Given the description of an element on the screen output the (x, y) to click on. 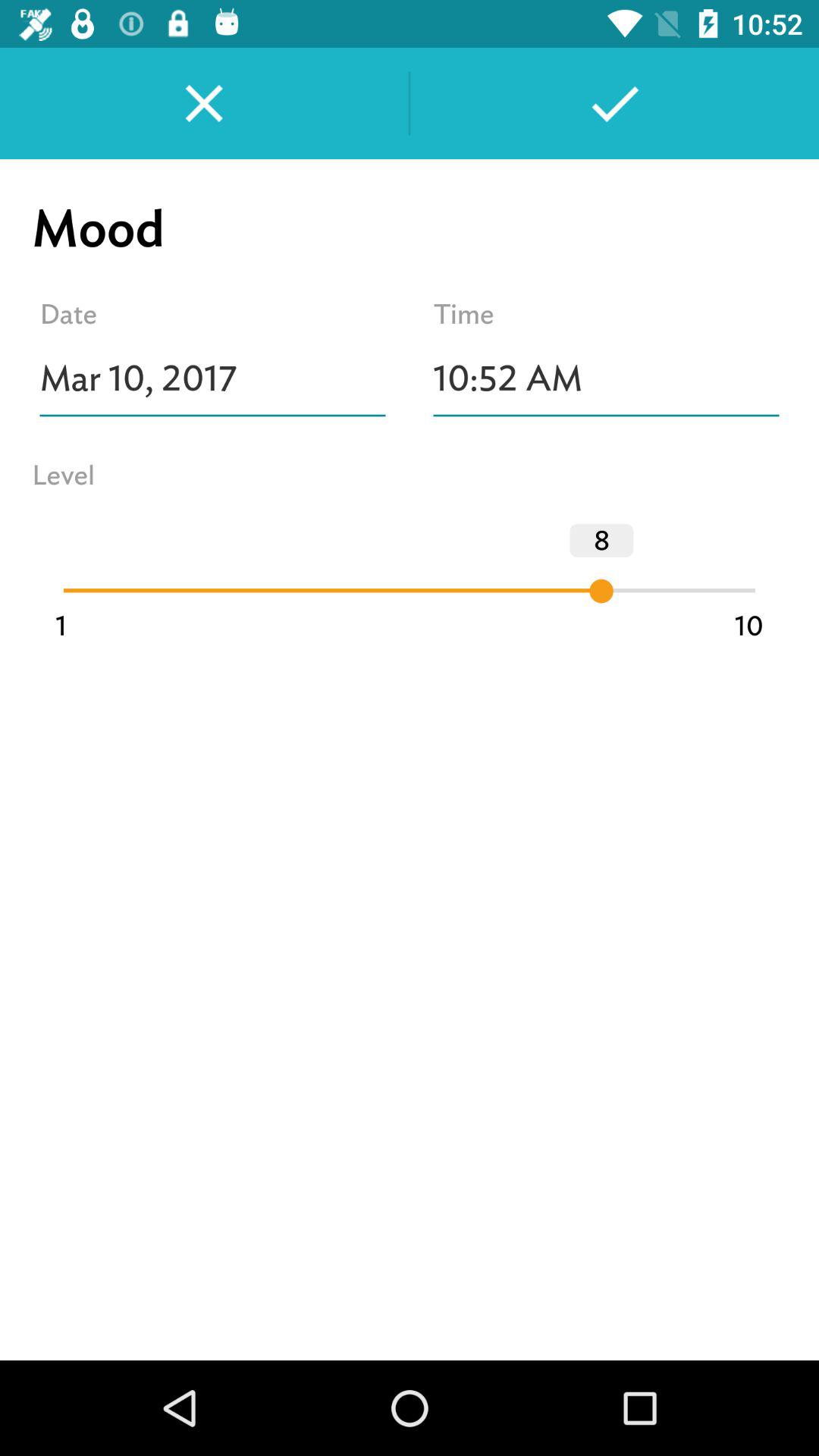
tap the icon below date (212, 378)
